Given the description of an element on the screen output the (x, y) to click on. 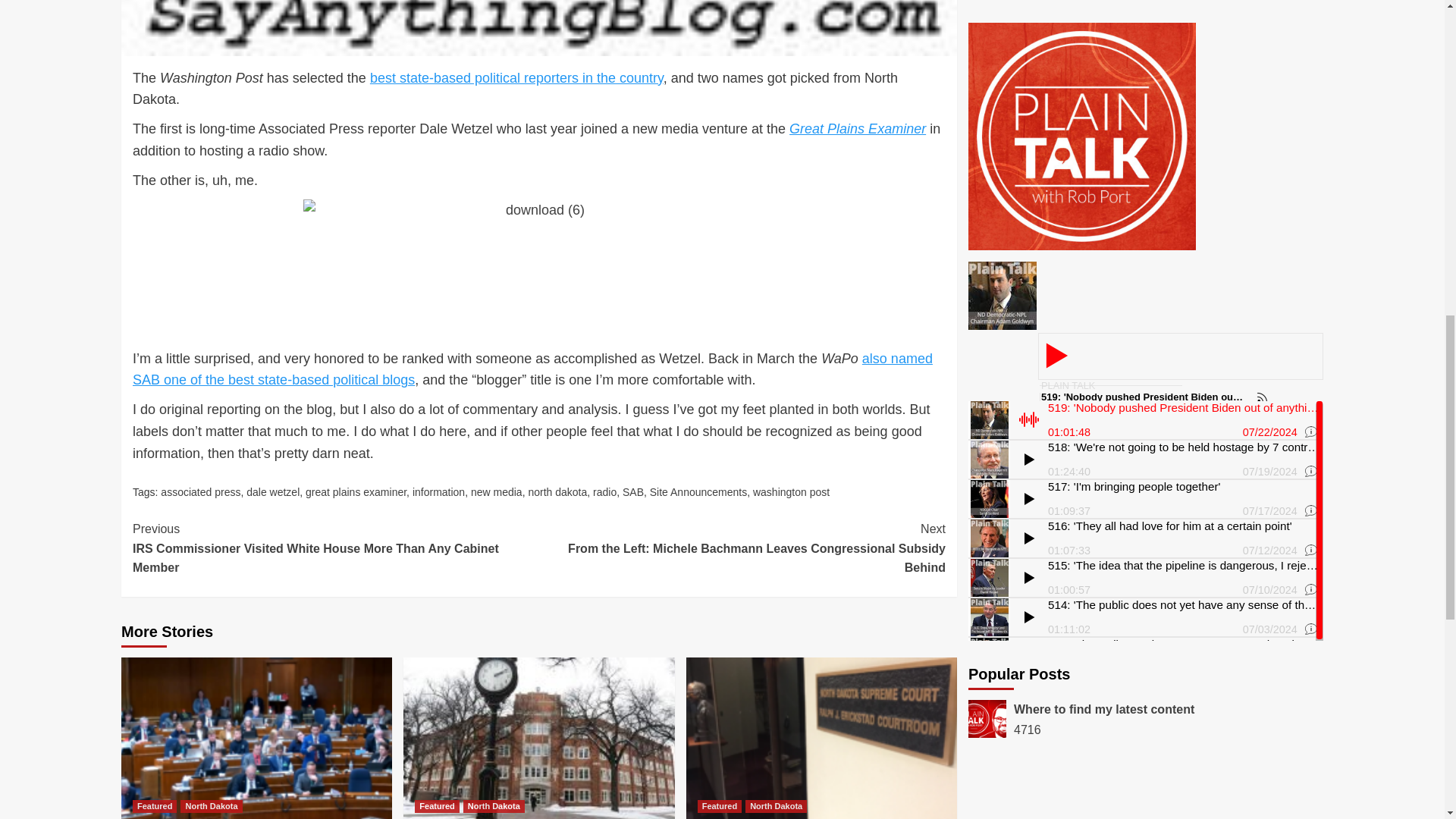
north dakota (556, 491)
best state-based political reporters in the country (516, 77)
Great Plains Examiner (857, 128)
also named SAB one of the best state-based political blogs (532, 369)
SAB (633, 491)
washington post (790, 491)
great plains examiner (355, 491)
radio (603, 491)
Site Announcements (697, 491)
associated press (200, 491)
information (438, 491)
dale wetzel (272, 491)
new media (496, 491)
